Given the description of an element on the screen output the (x, y) to click on. 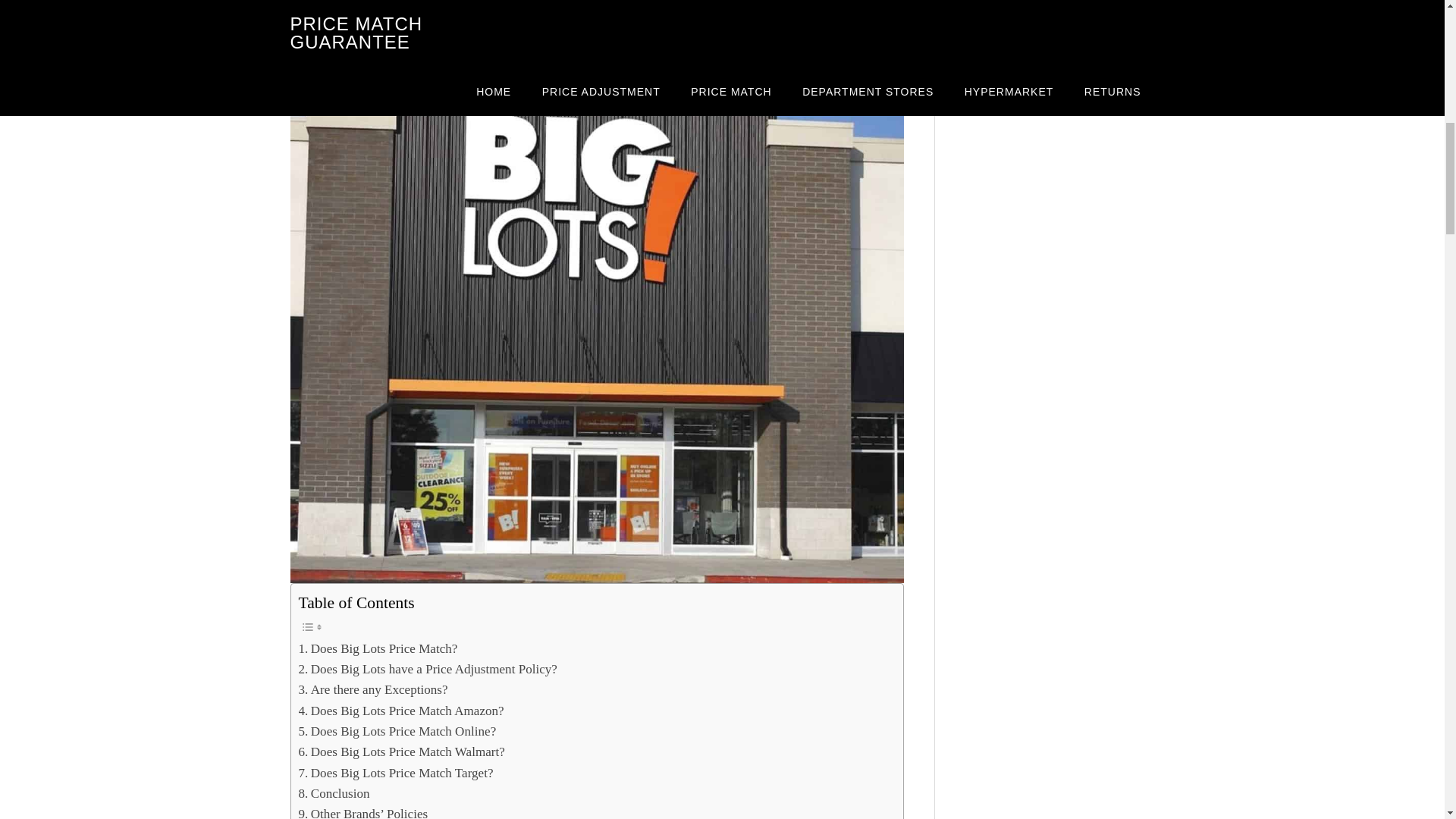
Does Big Lots Price Match Amazon? (400, 711)
Does Big Lots Price Match Online? (397, 731)
Does Big Lots Price Match? (378, 648)
Does Big Lots have a Price Adjustment Policy? (427, 669)
Does Big Lots Price Match Online? (397, 731)
Does Big Lots have a Price Adjustment Policy? (427, 669)
Does Big Lots Price Match Target? (395, 772)
Does Big Lots Price Match Target? (395, 772)
Does Big Lots Price Match Walmart? (401, 752)
Are there any Exceptions? (373, 689)
